Given the description of an element on the screen output the (x, y) to click on. 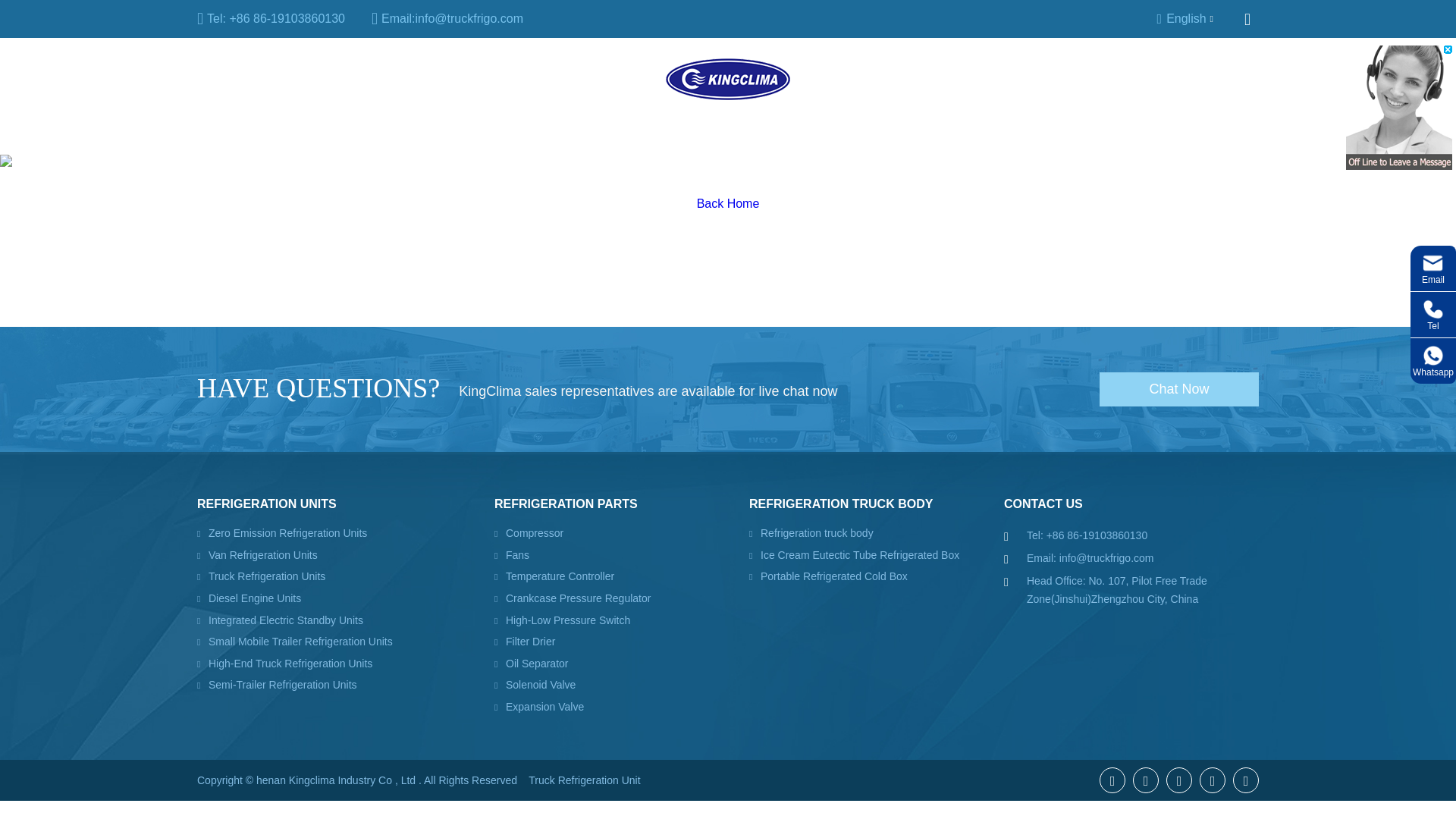
Refrigeration units (245, 79)
Refrigeration parts (389, 79)
Refrigeration truck body (547, 79)
